Given the description of an element on the screen output the (x, y) to click on. 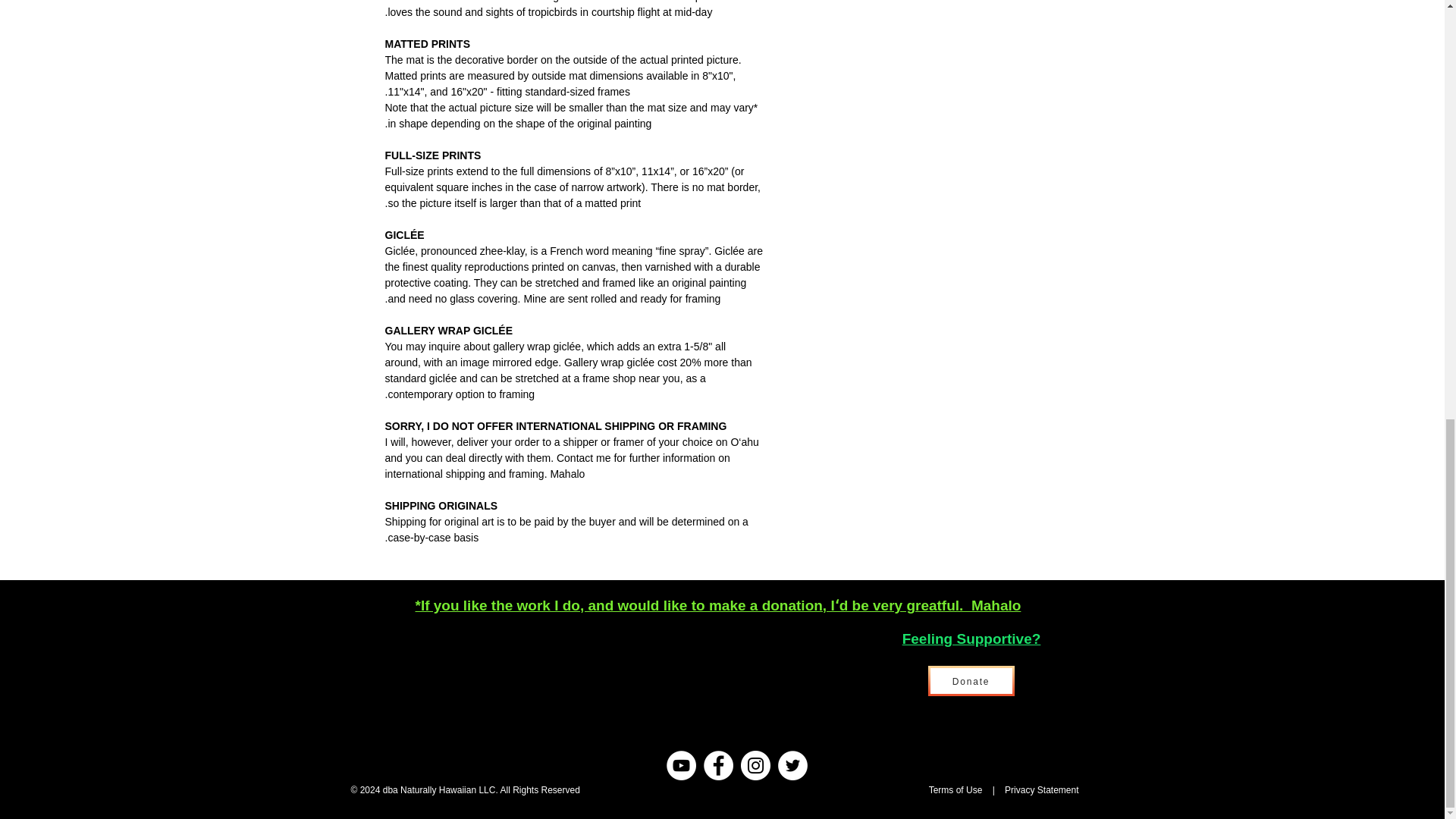
Feeling Supportive? (971, 638)
Donate (971, 680)
Hawaii (912, 789)
